Given the description of an element on the screen output the (x, y) to click on. 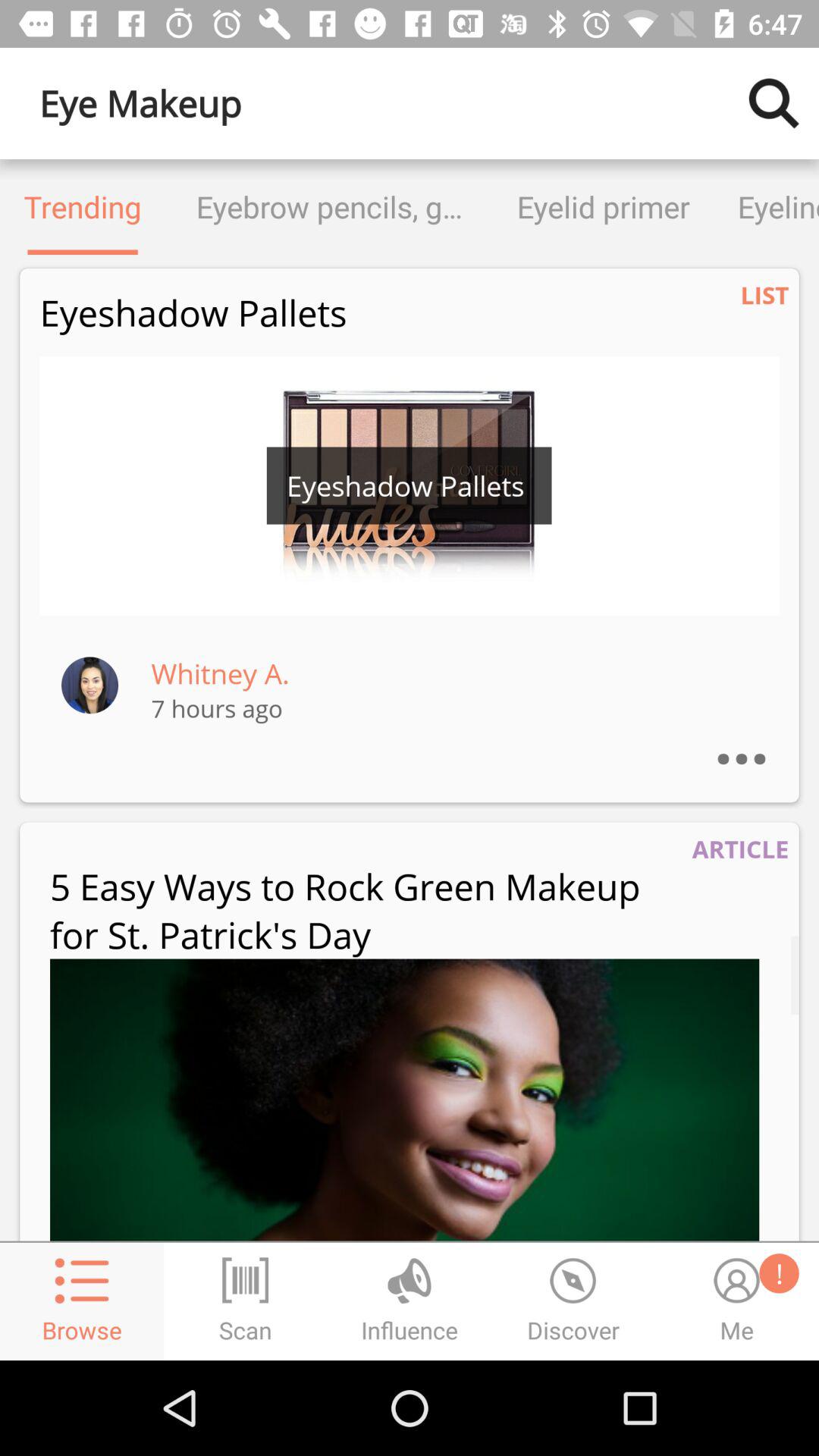
search button (773, 103)
